Given the description of an element on the screen output the (x, y) to click on. 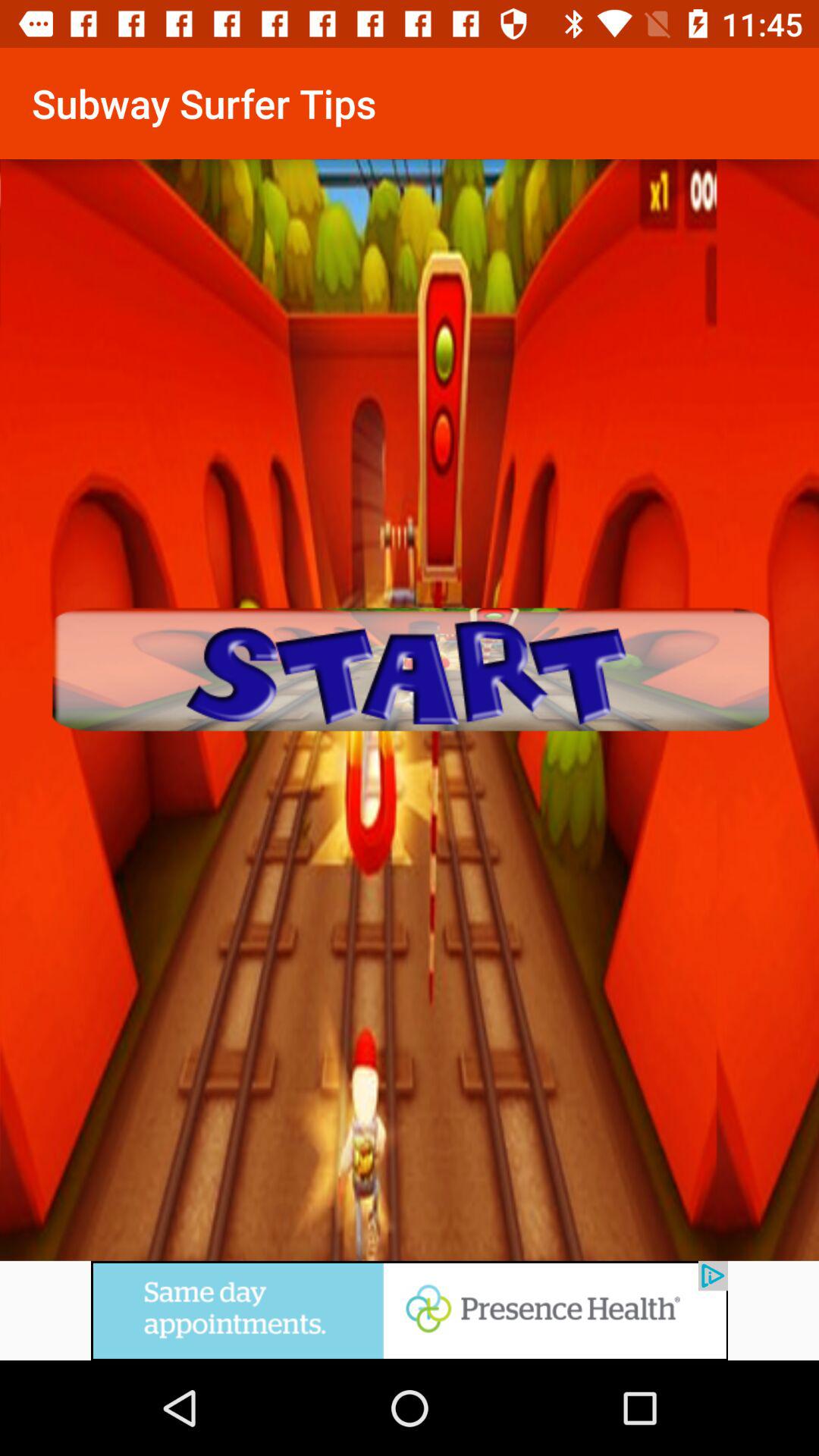
go to advertisement (409, 1334)
